Given the description of an element on the screen output the (x, y) to click on. 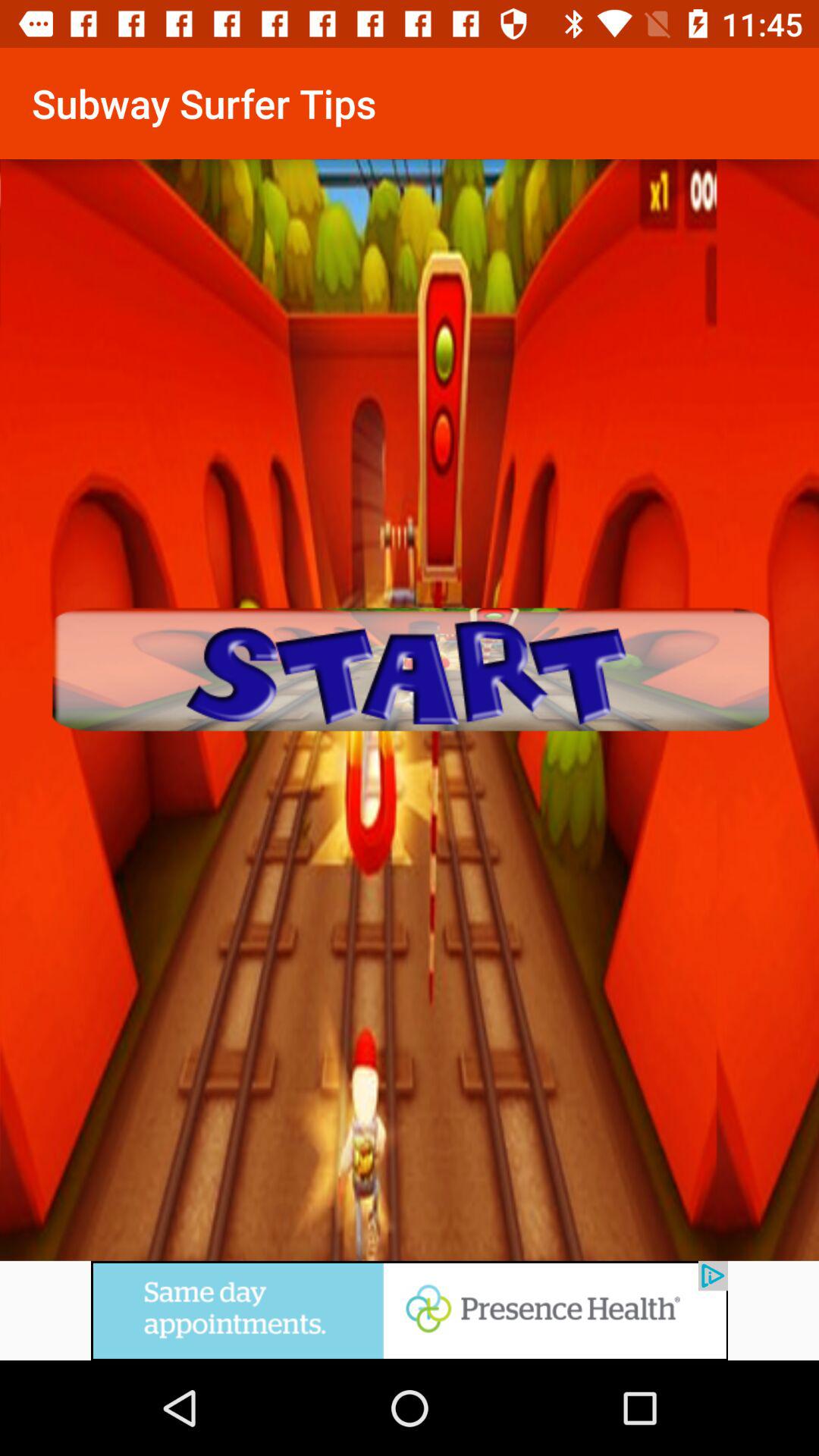
go to advertisement (409, 1334)
